Given the description of an element on the screen output the (x, y) to click on. 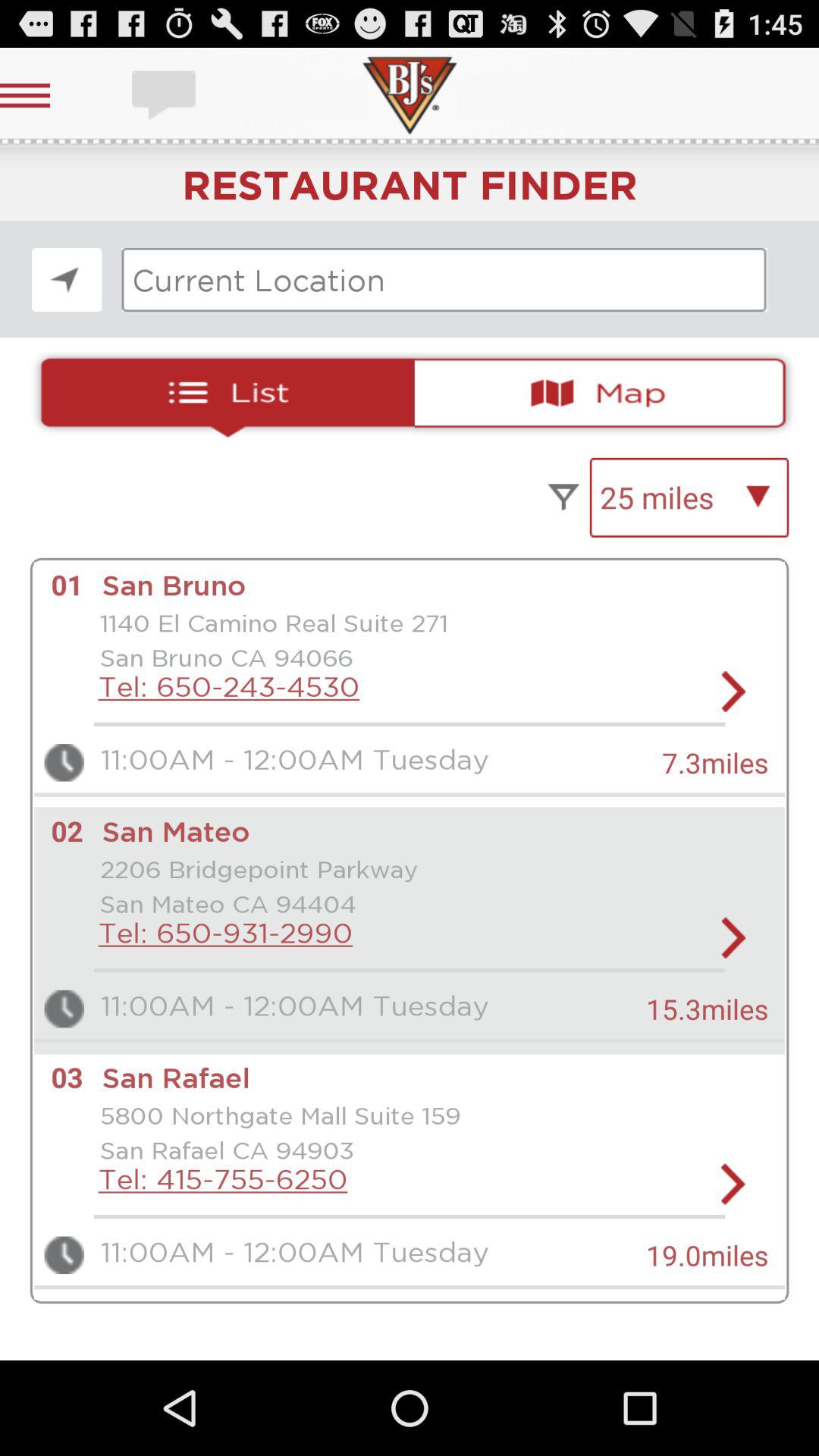
go to location (66, 279)
